Given the description of an element on the screen output the (x, y) to click on. 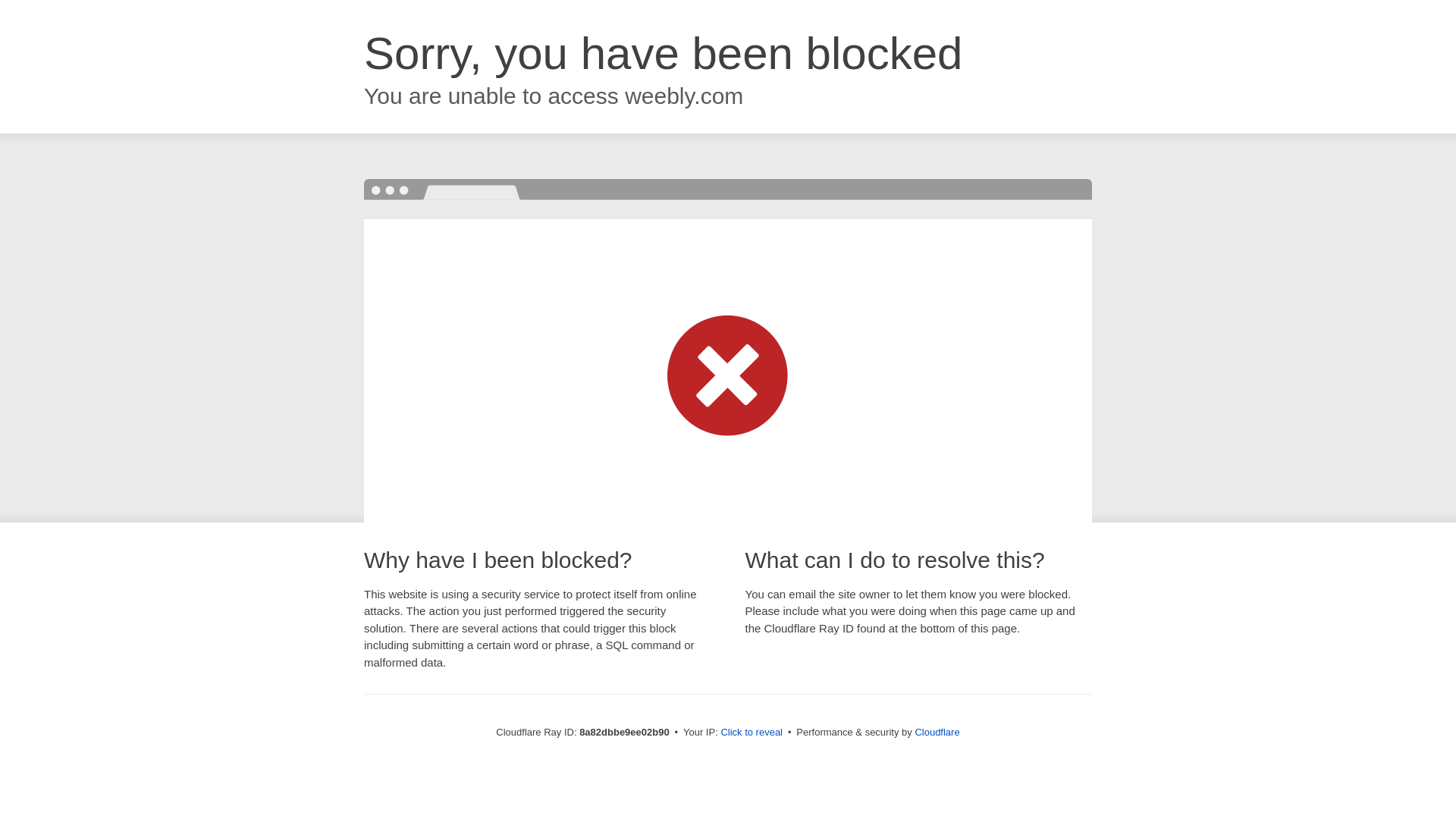
Cloudflare (936, 731)
Click to reveal (751, 732)
